Given the description of an element on the screen output the (x, y) to click on. 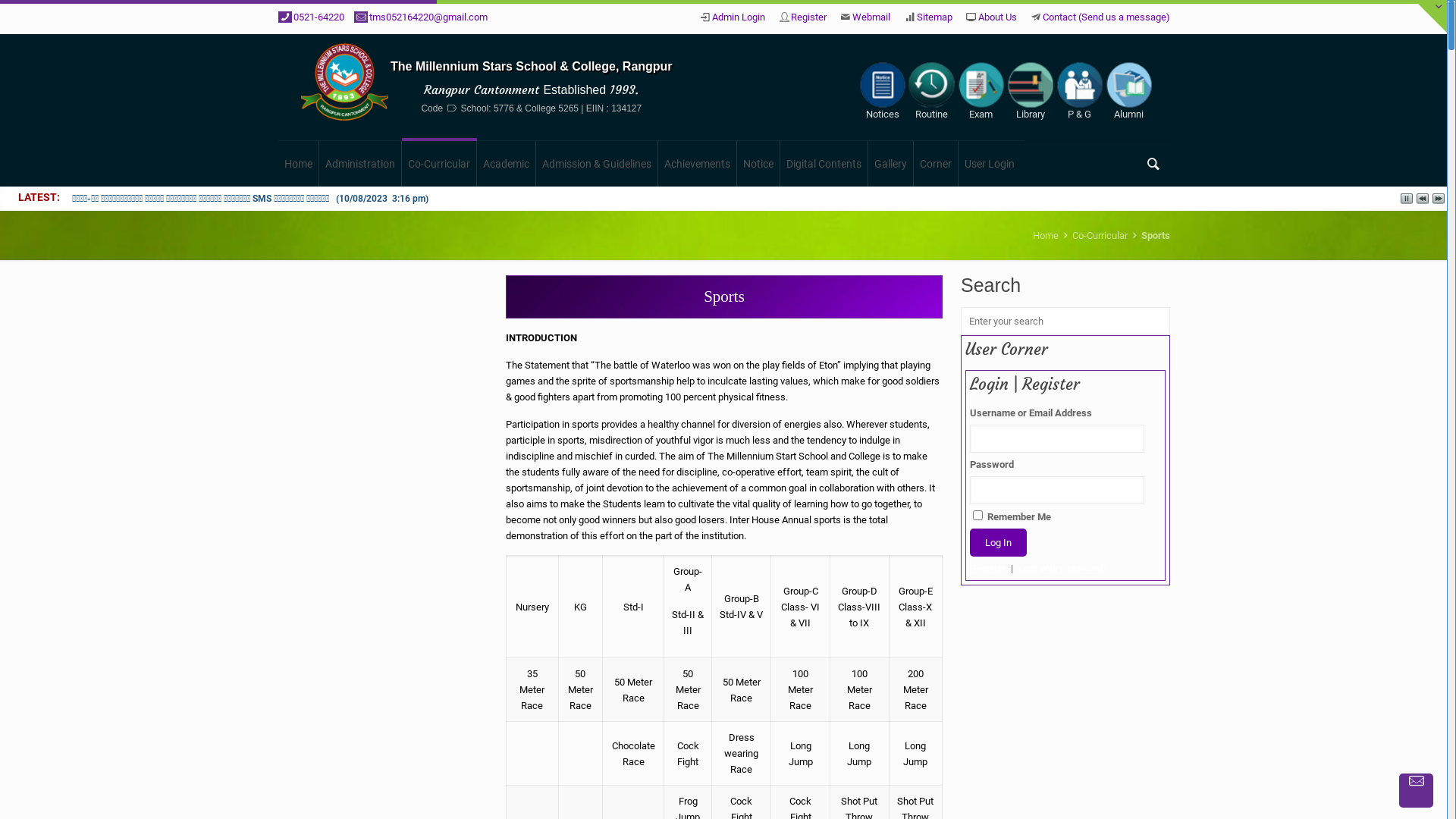
Corner Element type: text (935, 163)
Notice Element type: text (758, 163)
Register Element type: text (987, 568)
Lost your password? Element type: text (1062, 568)
Search Element type: text (30, 14)
The Millennium Stars School & College, Rangpur Element type: text (531, 65)
Sitemap Element type: text (934, 16)
Admission & Guidelines Element type: text (597, 163)
Exam Element type: text (980, 90)
Co-Curricular Element type: text (1099, 235)
Home Element type: text (1045, 235)
Home Element type: text (298, 163)
Achievements Element type: text (697, 163)
Register Element type: text (808, 16)
Administration Element type: text (360, 163)
0521-64220 Element type: text (318, 16)
Co-Curricular Element type: text (438, 163)
About Us Element type: text (997, 16)
Contact (Send us a message) Element type: text (1106, 16)
Gallery Element type: text (890, 163)
User Login Element type: text (989, 163)
Log In Element type: text (997, 542)
Notices Element type: text (882, 90)
Routine Element type: text (931, 90)
Webmail Element type: text (871, 16)
Digital Contents Element type: text (824, 163)
Admin Login Element type: text (738, 16)
Edu Institute Element type: hover (344, 87)
tms052164220@gmail.com Element type: text (428, 16)
Alumni Element type: text (1128, 90)
P & G Element type: text (1079, 90)
Library Element type: text (1030, 90)
Academic Element type: text (506, 163)
